Given the description of an element on the screen output the (x, y) to click on. 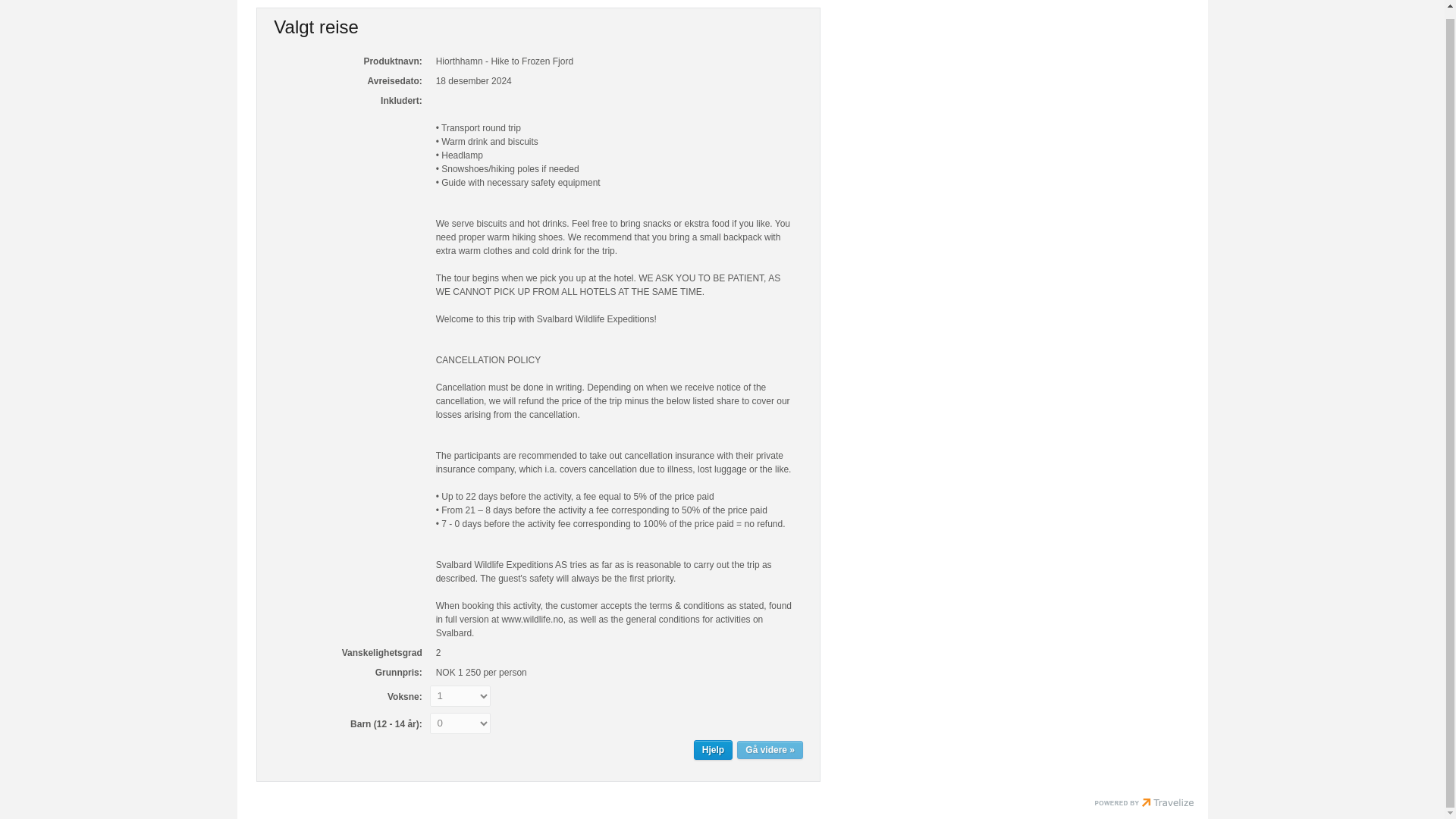
Hjelp (713, 750)
Hjelp (713, 750)
